Given the description of an element on the screen output the (x, y) to click on. 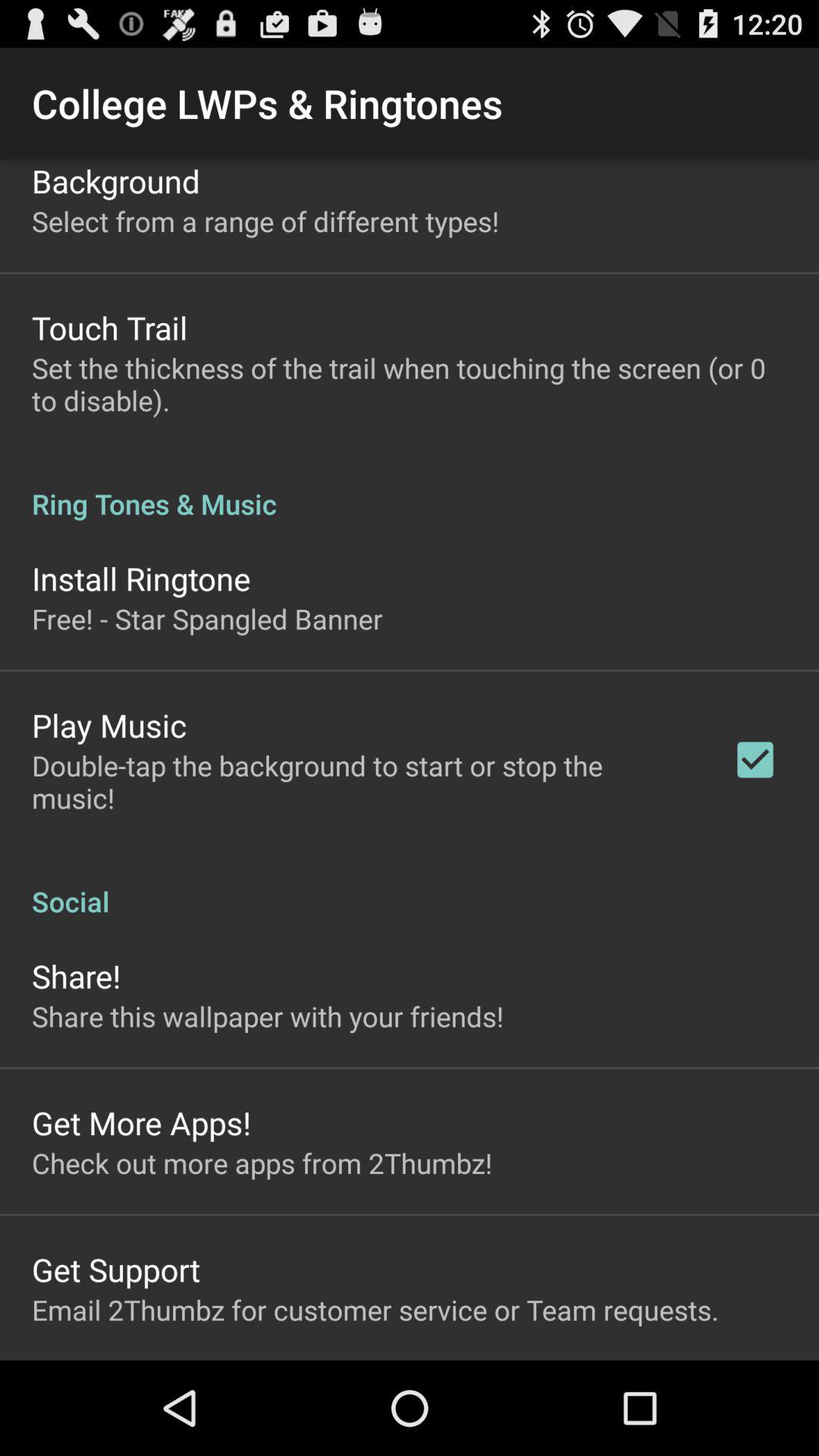
scroll to touch trail (109, 327)
